Given the description of an element on the screen output the (x, y) to click on. 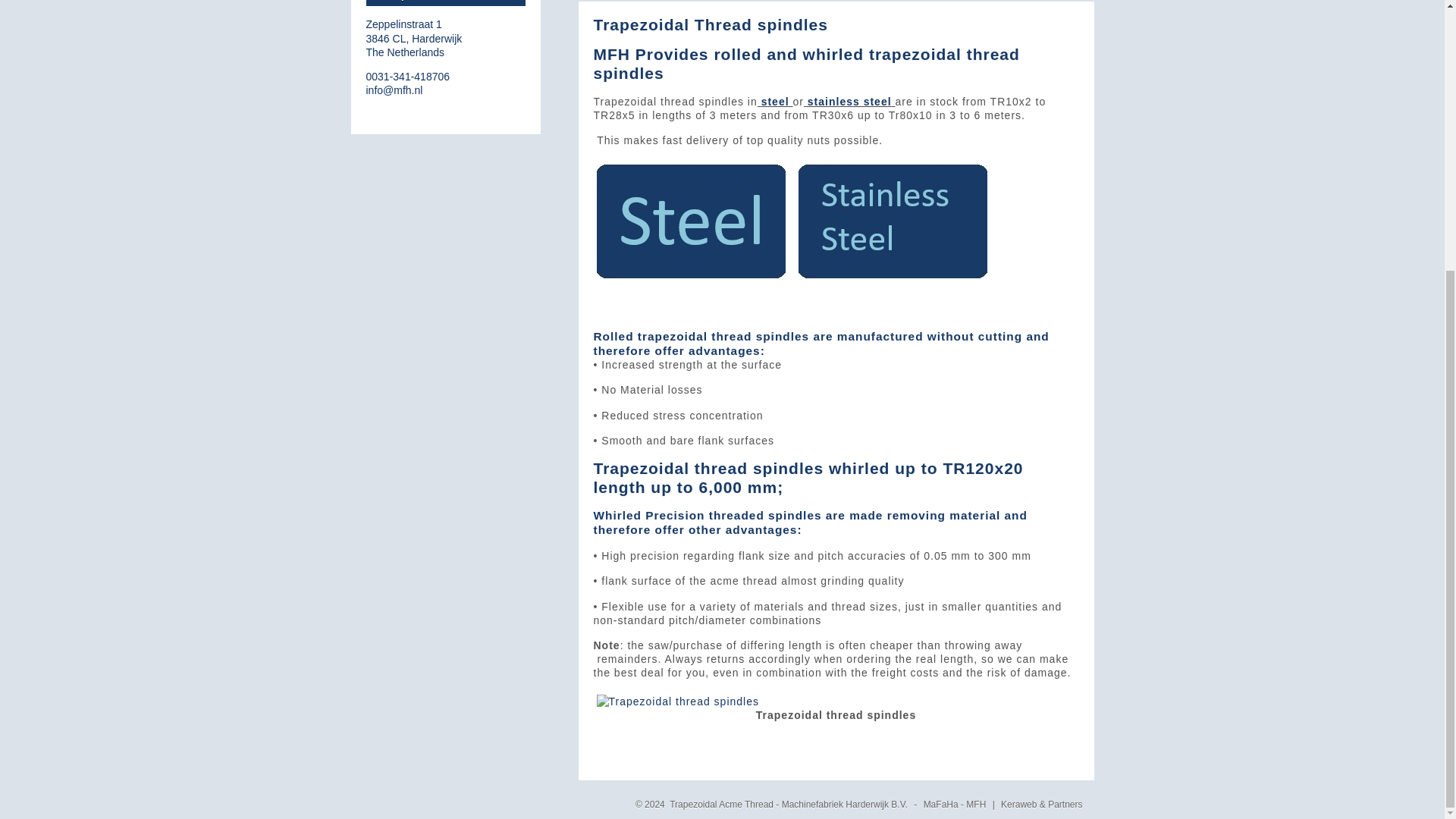
Privacy statement (444, 2)
0031-341-418706 (413, 37)
